Given the description of an element on the screen output the (x, y) to click on. 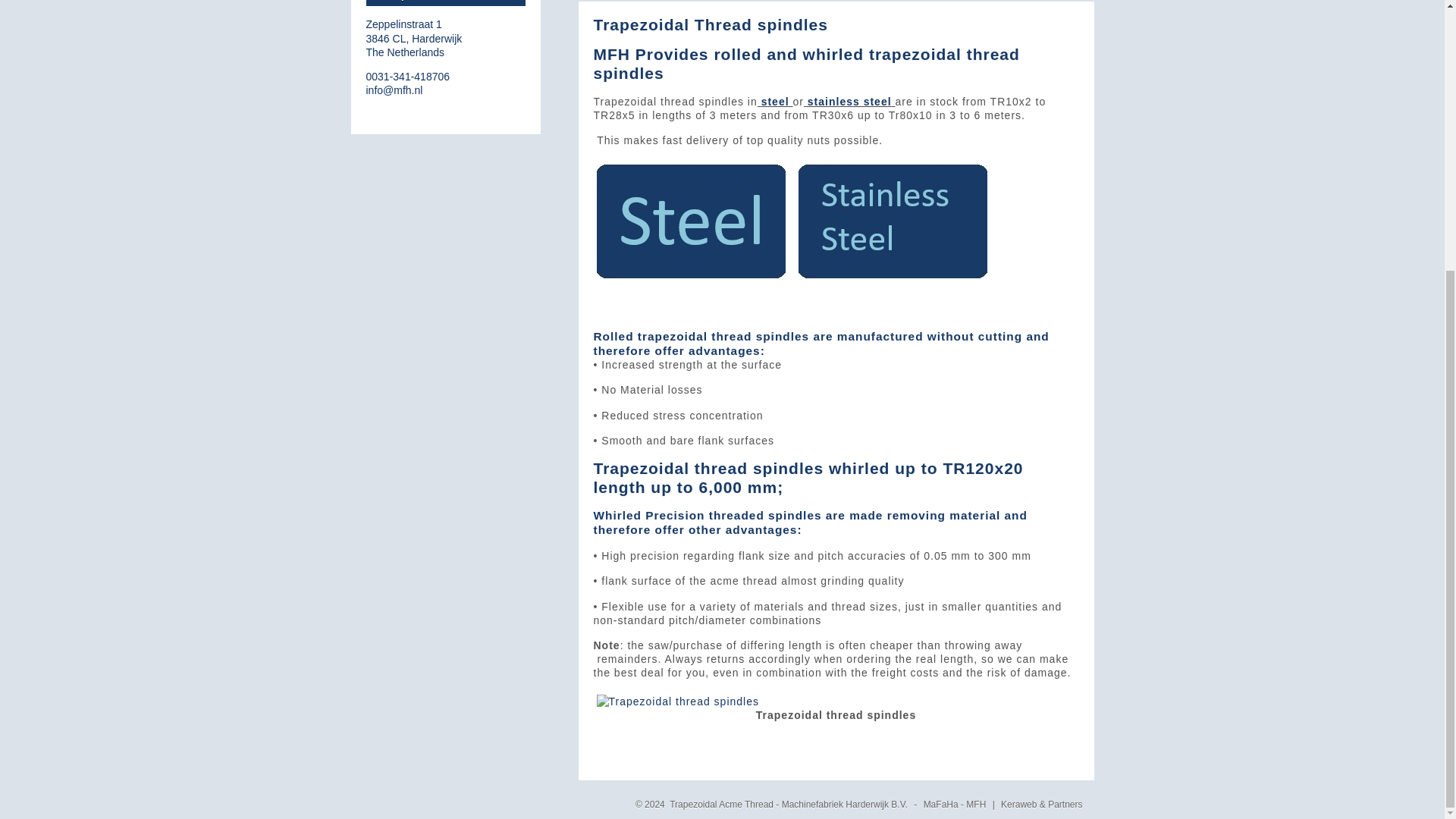
Privacy statement (444, 2)
0031-341-418706 (413, 37)
